Given the description of an element on the screen output the (x, y) to click on. 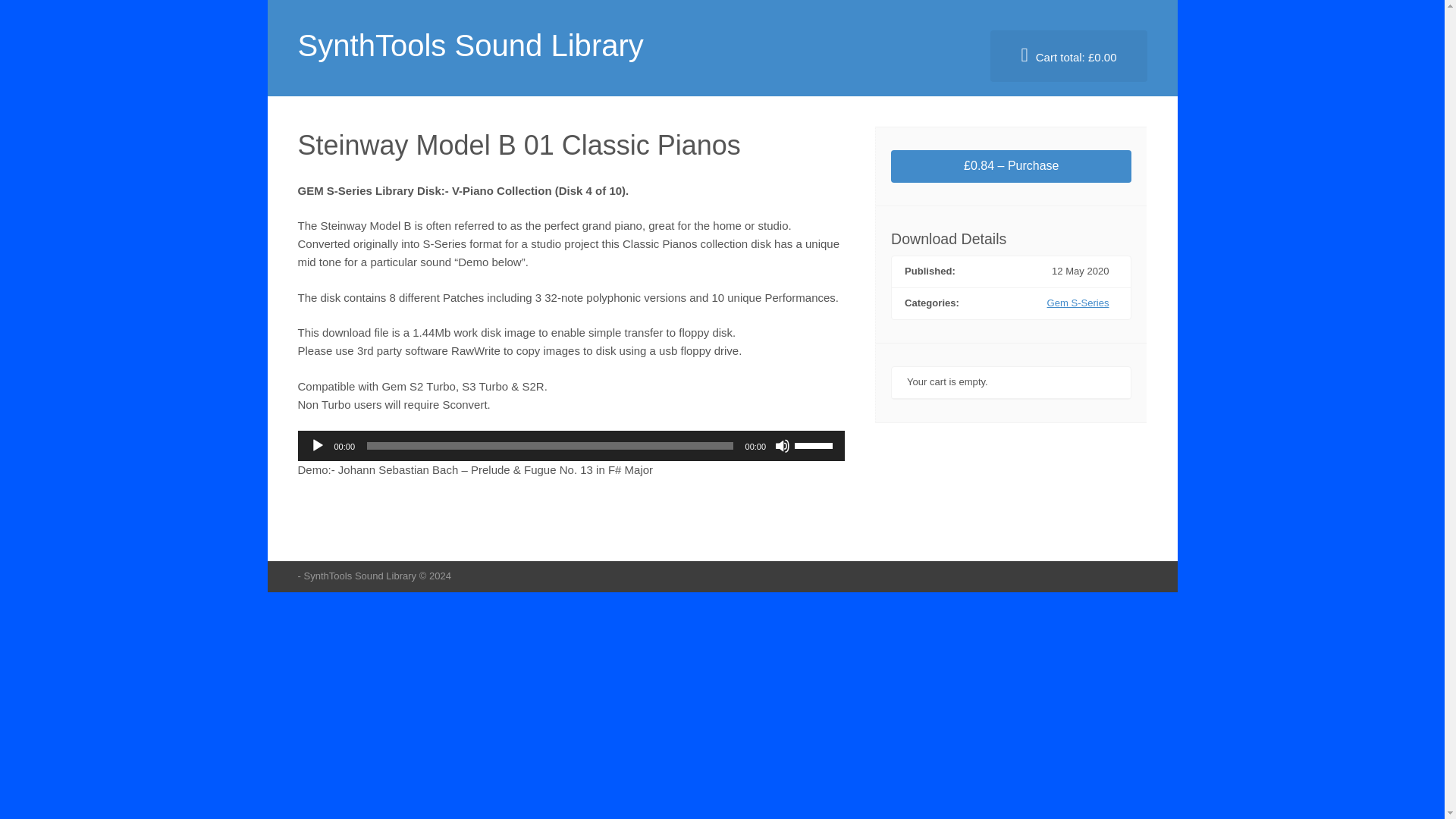
SynthTools Sound Library (470, 45)
SynthTools Sound Library (470, 45)
Gem S-Series (1077, 302)
Play (316, 445)
Mute (782, 445)
